Given the description of an element on the screen output the (x, y) to click on. 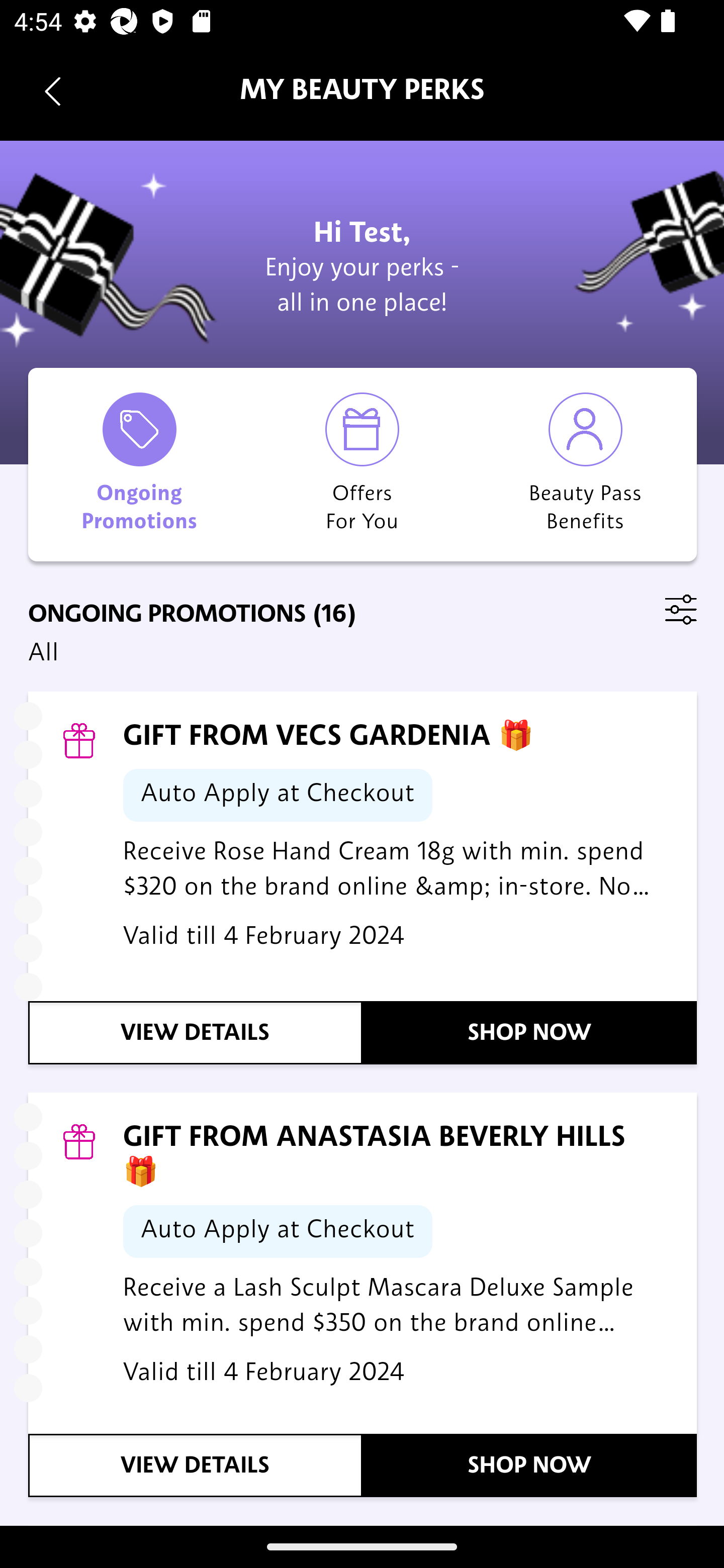
Ongoing Promotions (139, 463)
Offers
For You (362, 463)
Beauty Pass Benefits (584, 463)
VIEW DETAILS (196, 1032)
SHOP NOW (530, 1032)
VIEW DETAILS (196, 1465)
SHOP NOW (530, 1465)
